Given the description of an element on the screen output the (x, y) to click on. 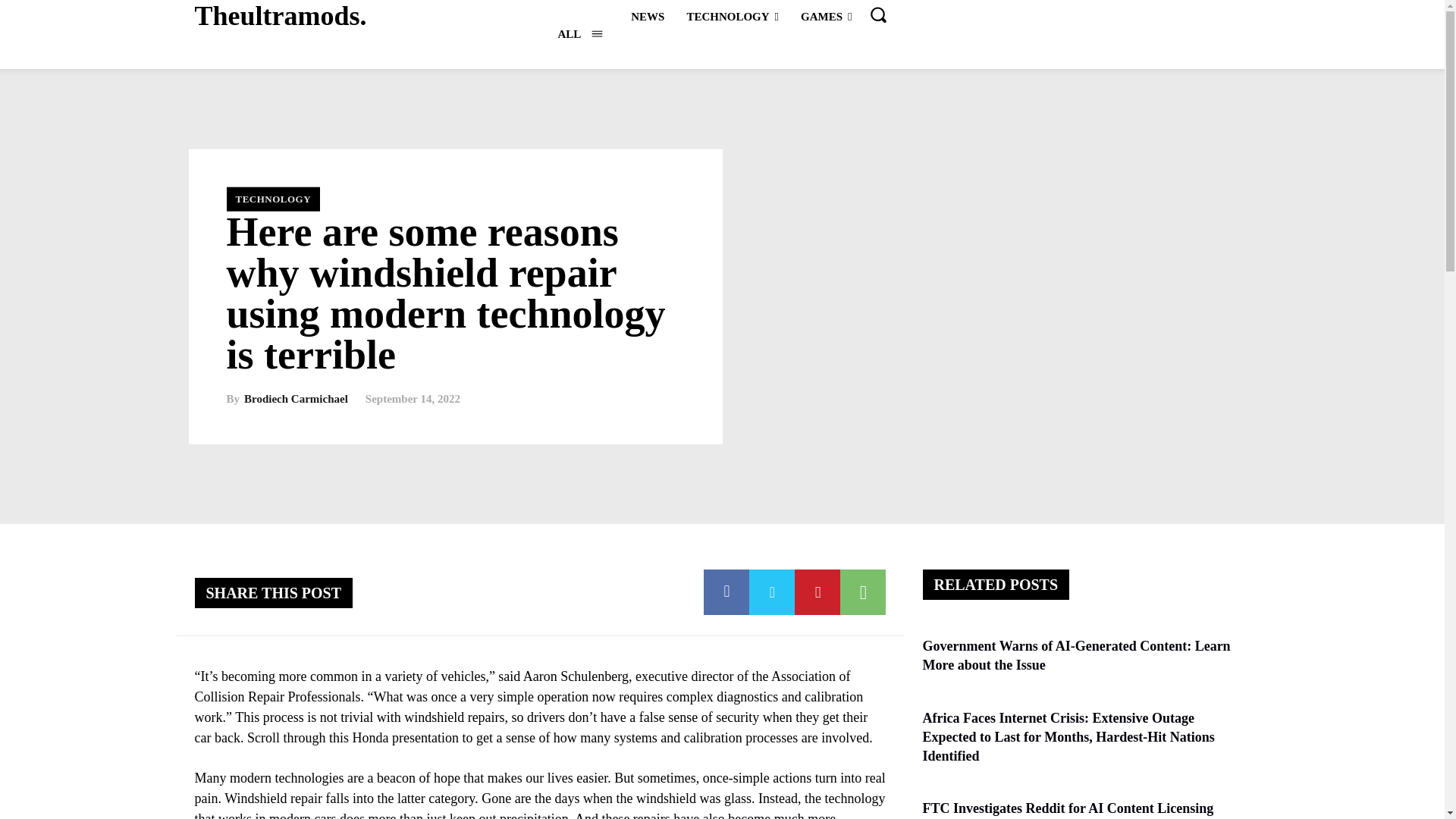
All (579, 33)
